Given the description of an element on the screen output the (x, y) to click on. 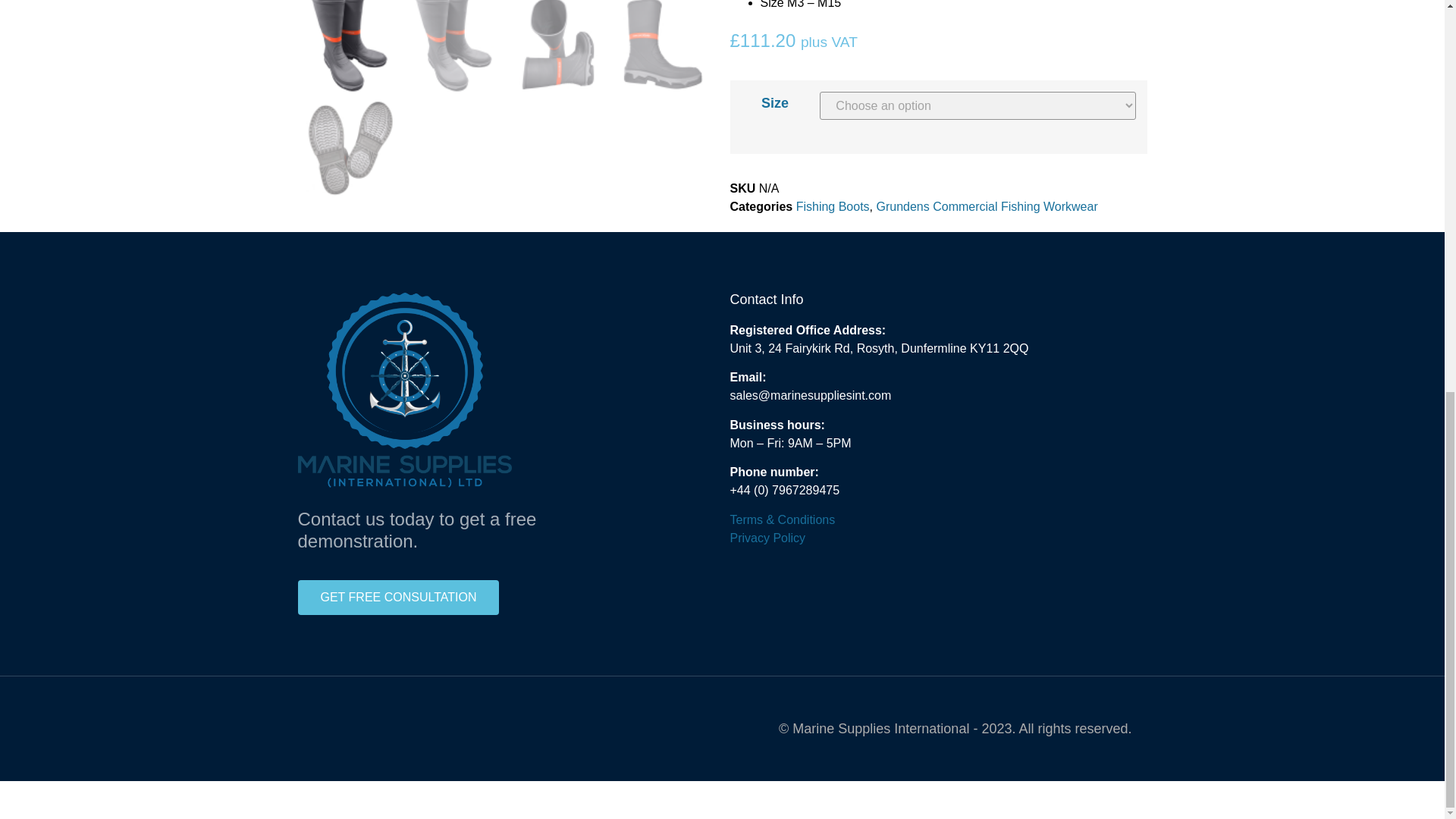
Privacy Policy (767, 537)
Grundens Commercial Fishing Workwear (986, 205)
GET FREE CONSULTATION (398, 597)
Fishing Boots (832, 205)
